Given the description of an element on the screen output the (x, y) to click on. 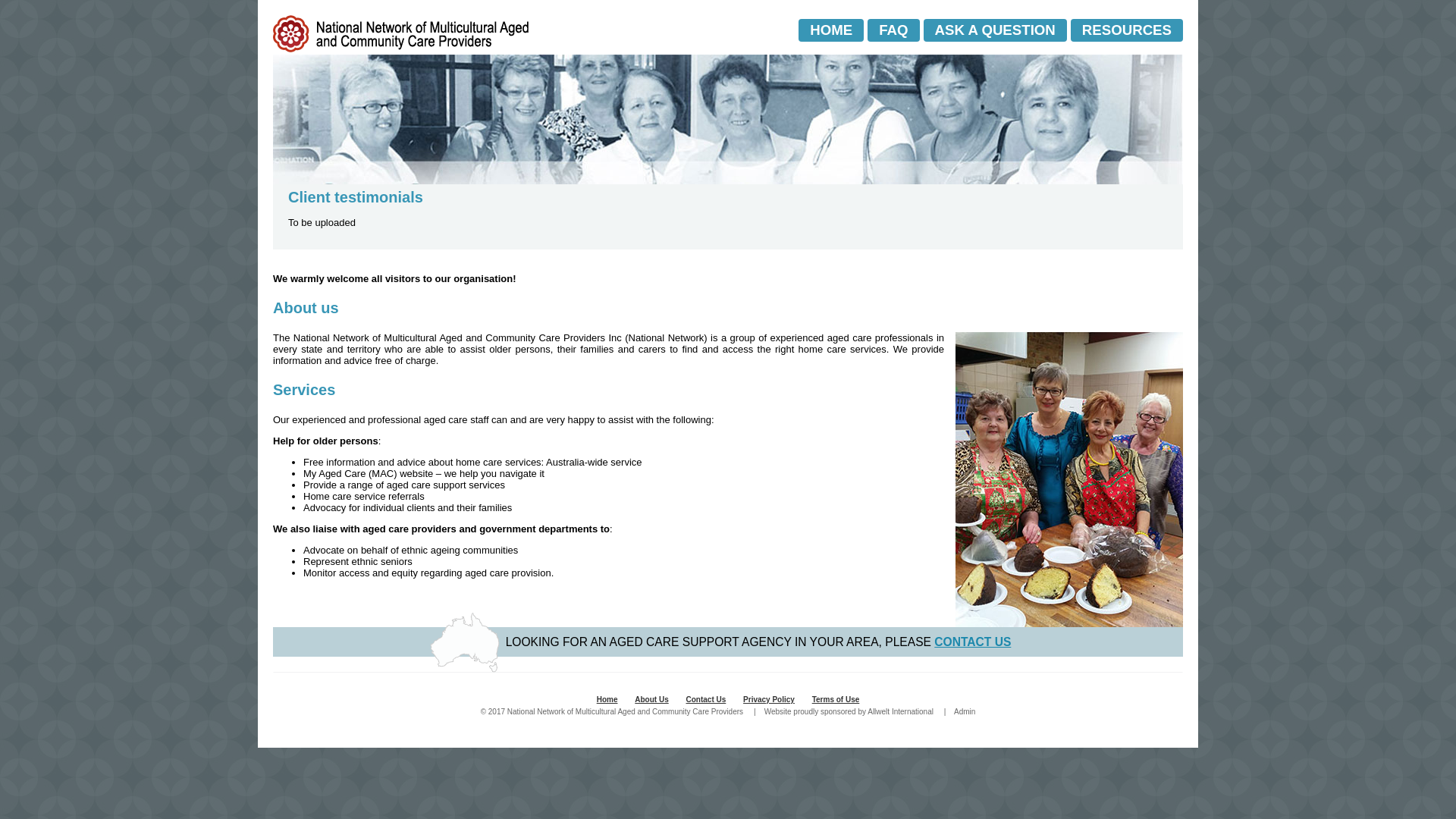
ASK A QUESTION Element type: text (994, 29)
HOME Element type: text (830, 29)
CONTACT US Element type: text (972, 641)
About Us Element type: text (651, 699)
Contact Us Element type: text (705, 699)
Privacy Policy Element type: text (768, 699)
Terms of Use Element type: text (835, 699)
RESOURCES Element type: text (1126, 29)
Admin Element type: text (964, 711)
Allwelt International Element type: text (900, 711)
Home Element type: text (607, 699)
FAQ Element type: text (893, 29)
